Given the description of an element on the screen output the (x, y) to click on. 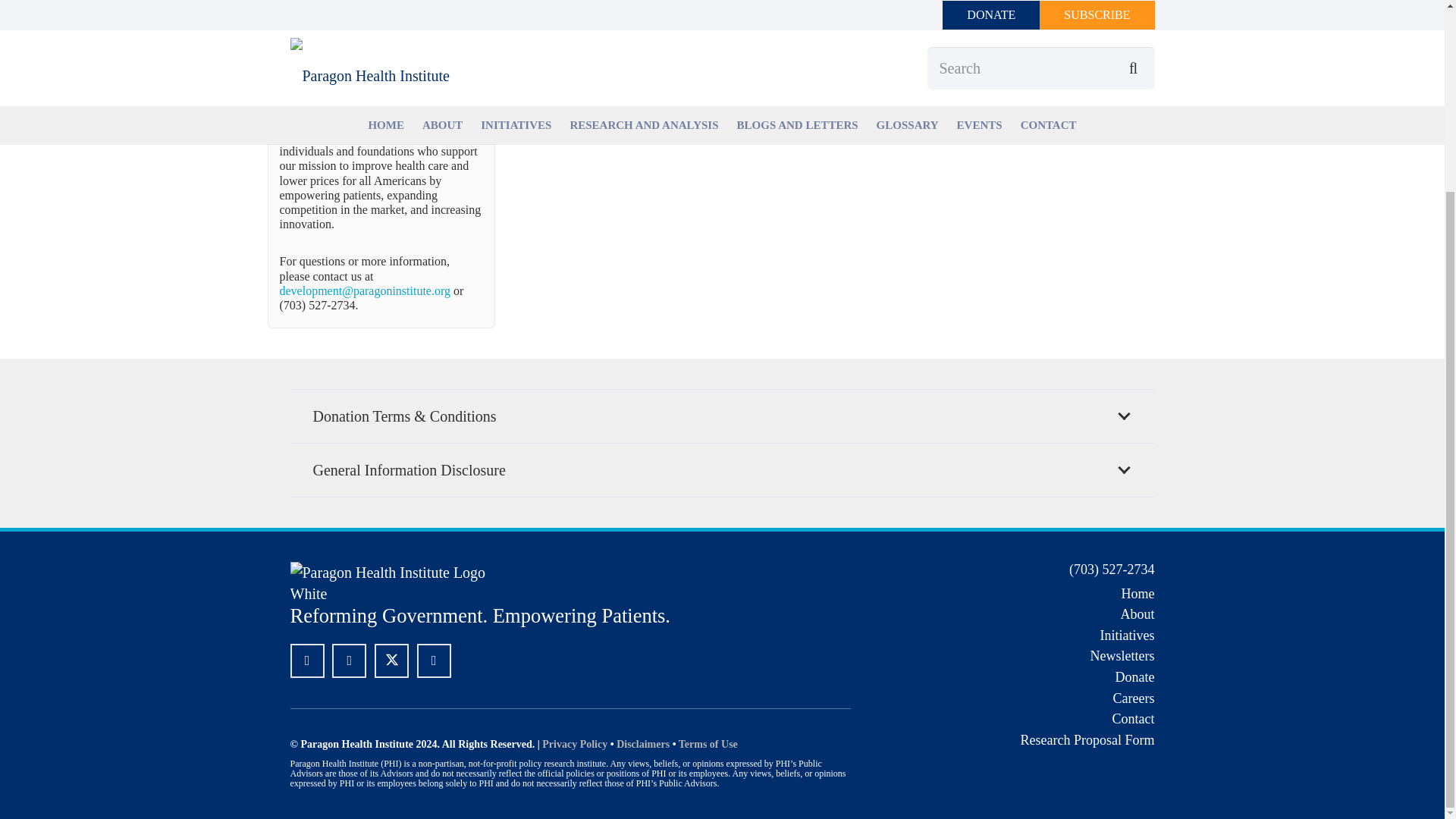
Facebook (306, 660)
Twitter (391, 660)
YouTube (433, 660)
LinkedIn (348, 660)
